Given the description of an element on the screen output the (x, y) to click on. 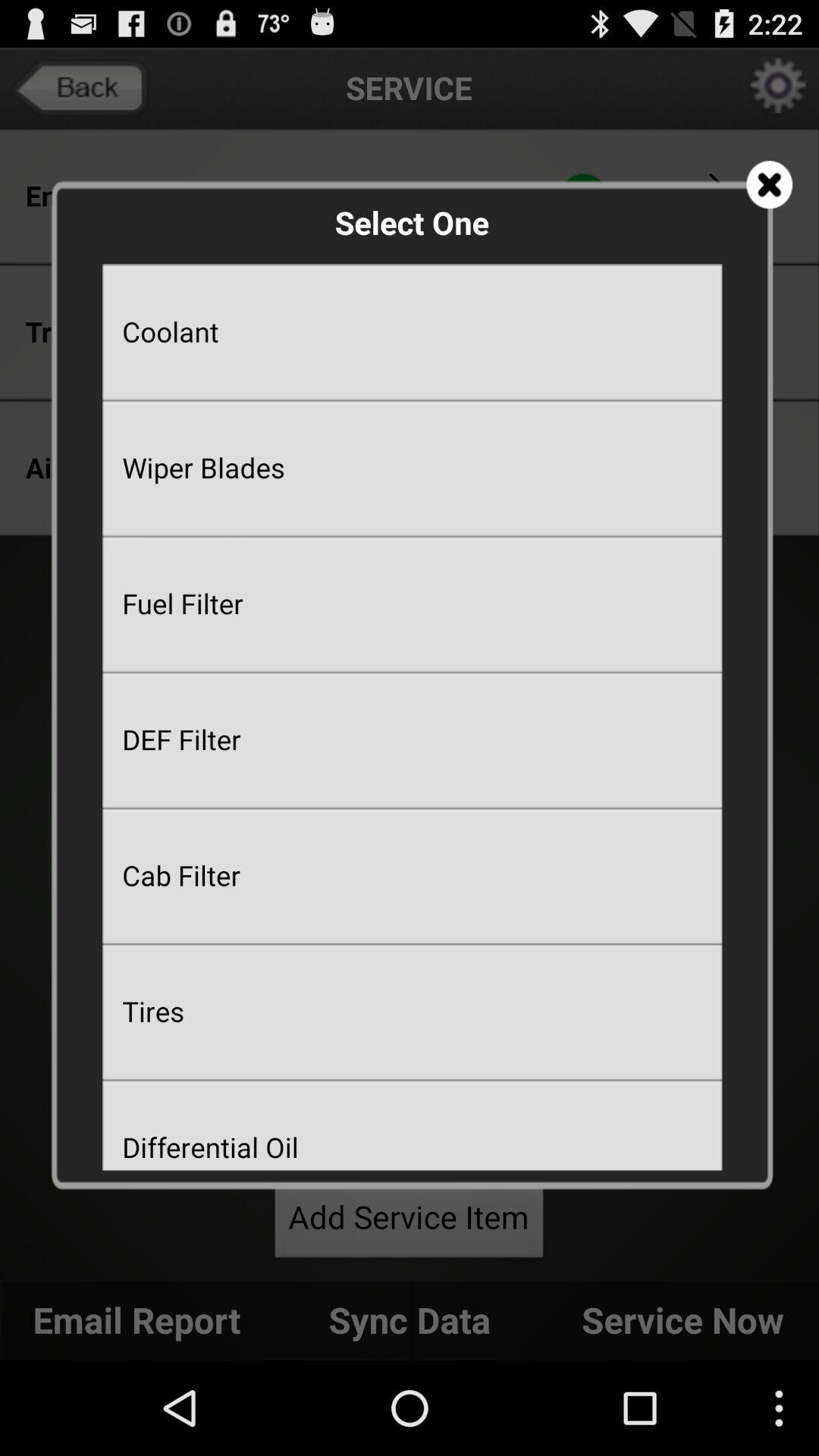
select the item to the right of the select one (769, 184)
